Given the description of an element on the screen output the (x, y) to click on. 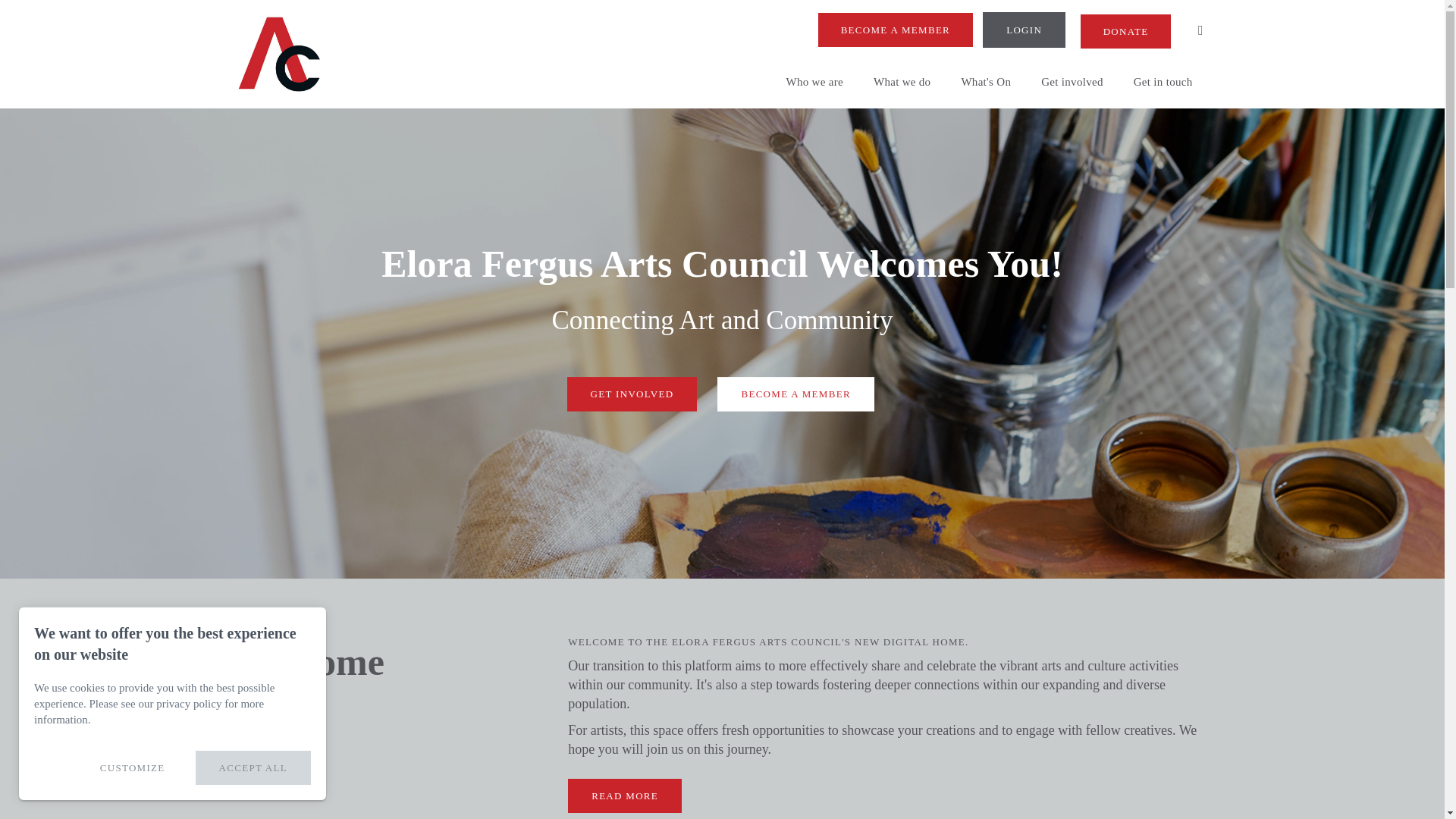
GET INVOLVED (632, 393)
Who we are (813, 76)
What's On (985, 76)
BECOME A MEMBER (795, 393)
Get involved (1072, 76)
What we do (901, 76)
Get in touch (1163, 76)
LOGIN (1023, 29)
CUSTOMIZE (132, 767)
BECOME A MEMBER (895, 29)
facebook (1200, 29)
READ MORE (624, 795)
DONATE (1126, 31)
ACCEPT ALL (253, 767)
